Given the description of an element on the screen output the (x, y) to click on. 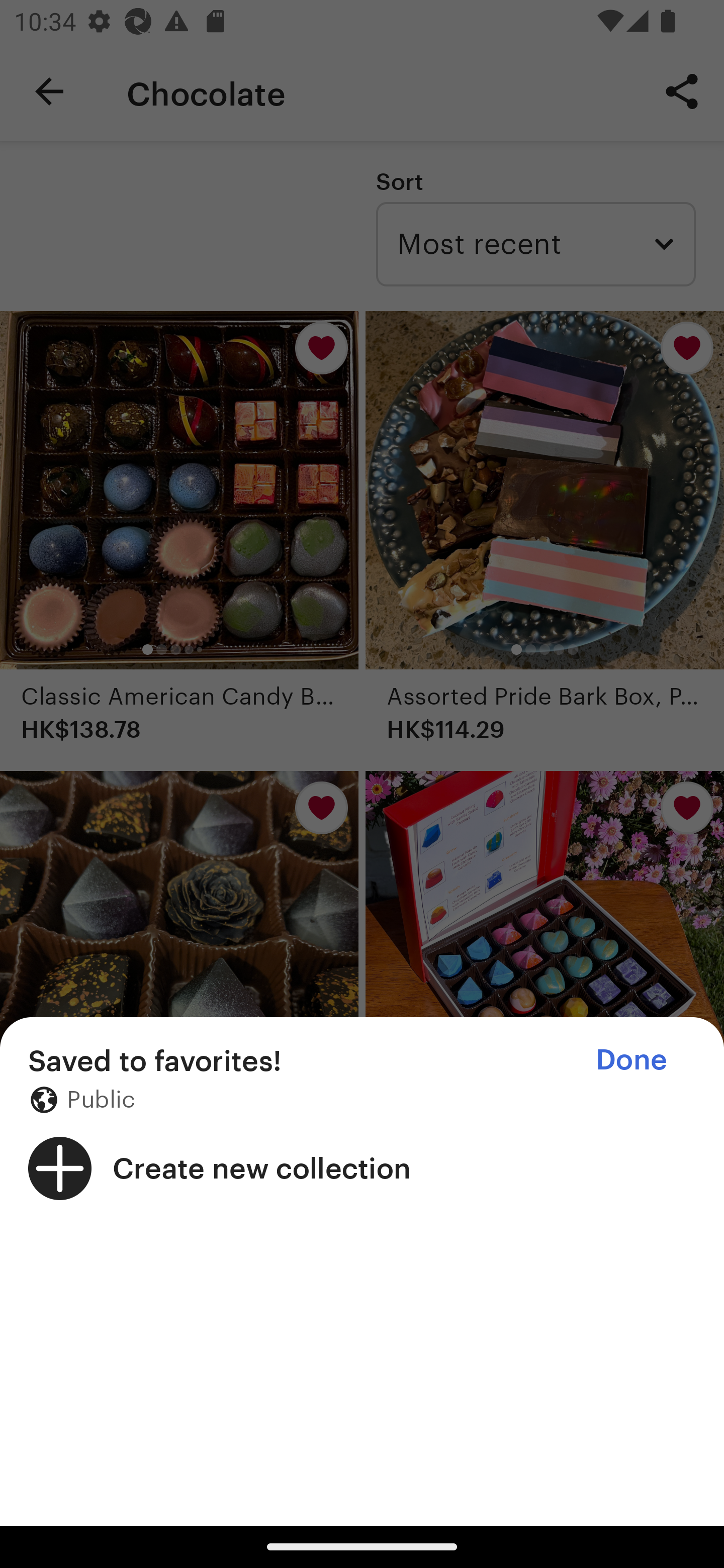
Done (630, 1059)
Create new collection (361, 1167)
